Given the description of an element on the screen output the (x, y) to click on. 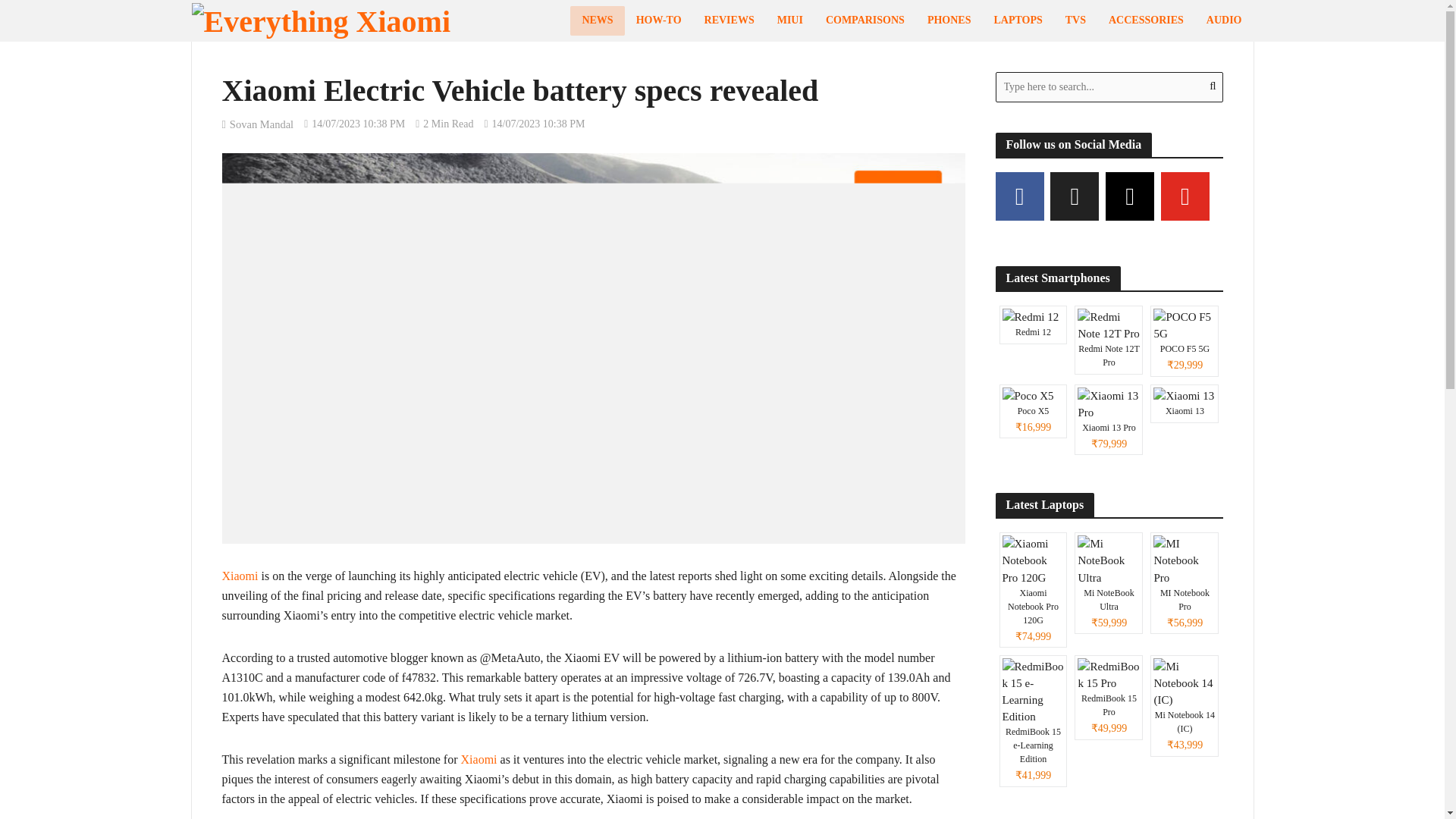
LAPTOPS (1016, 20)
YouTube (1184, 195)
Xiaomi 13 Pro (1108, 419)
Poco X5 (1032, 411)
Instagram (1129, 195)
Redmi 12 (1032, 324)
Xiaomi (239, 577)
PHONES (948, 20)
TVS (1075, 20)
REVIEWS (729, 20)
ACCESSORIES (1146, 20)
AUDIO (1224, 20)
Xiaomi (479, 760)
MIUI (789, 20)
NEWS (597, 20)
